Given the description of an element on the screen output the (x, y) to click on. 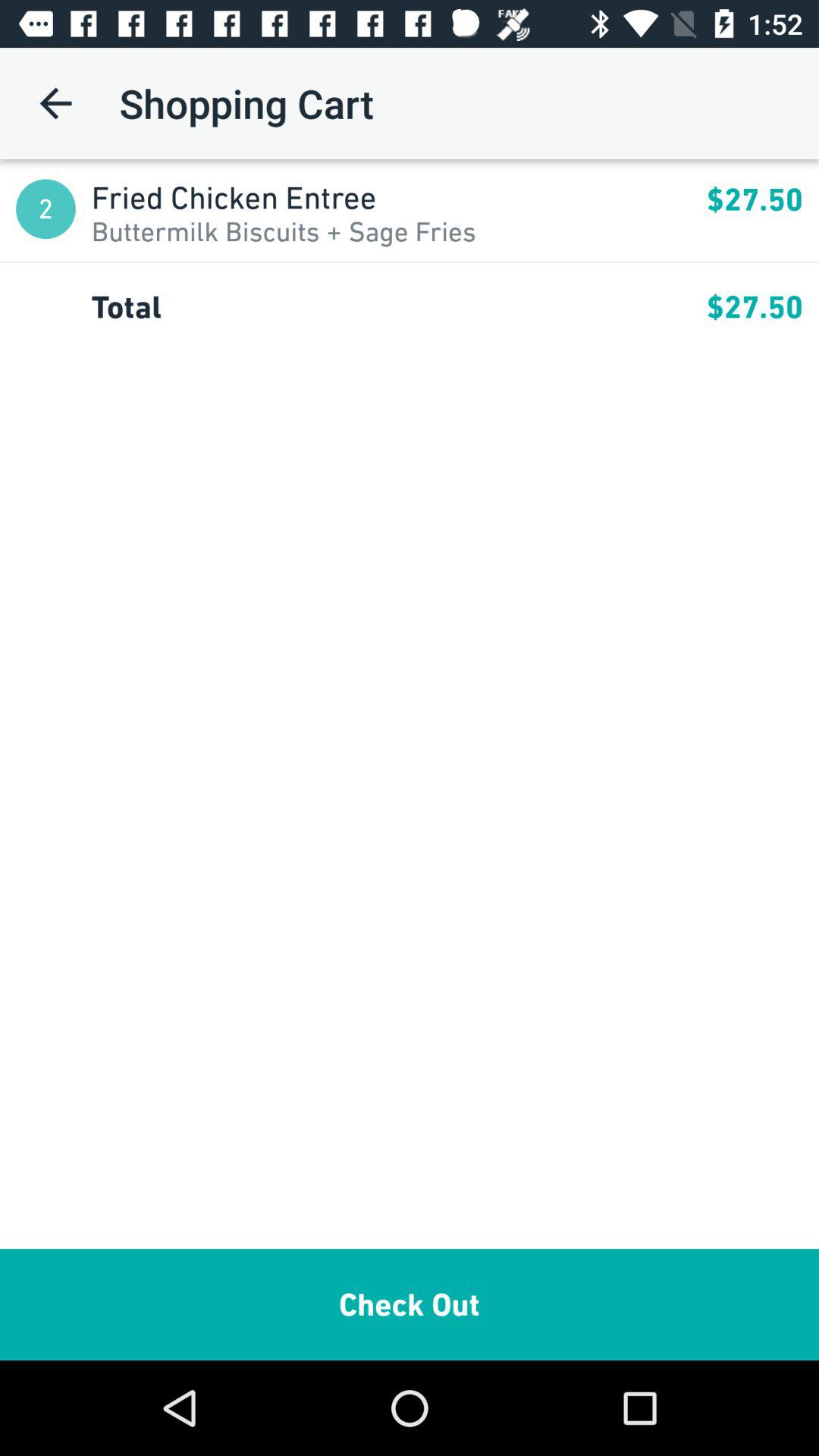
click icon to the left of the $27.50 item (398, 197)
